Given the description of an element on the screen output the (x, y) to click on. 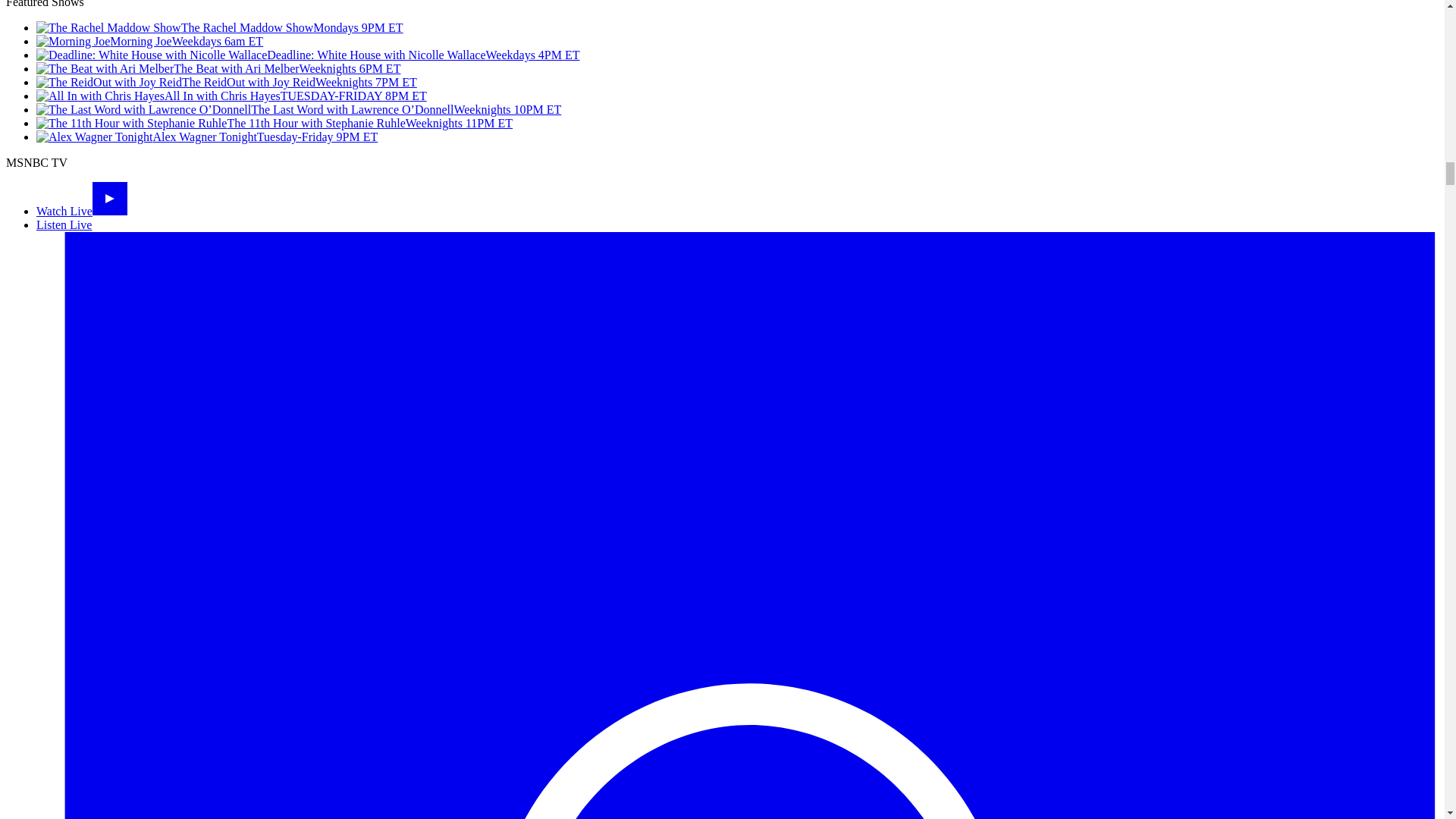
The Beat with Ari MelberWeeknights 6PM ET (218, 68)
All In with Chris HayesTUESDAY-FRIDAY 8PM ET (231, 95)
Watch Live (82, 210)
Morning JoeWeekdays 6am ET (149, 41)
Deadline: White House with Nicolle WallaceWeekdays 4PM ET (307, 54)
The ReidOut with Joy ReidWeeknights 7PM ET (226, 82)
The 11th Hour with Stephanie RuhleWeeknights 11PM ET (274, 123)
The Rachel Maddow ShowMondays 9PM ET (219, 27)
Alex Wagner TonightTuesday-Friday 9PM ET (206, 136)
